Given the description of an element on the screen output the (x, y) to click on. 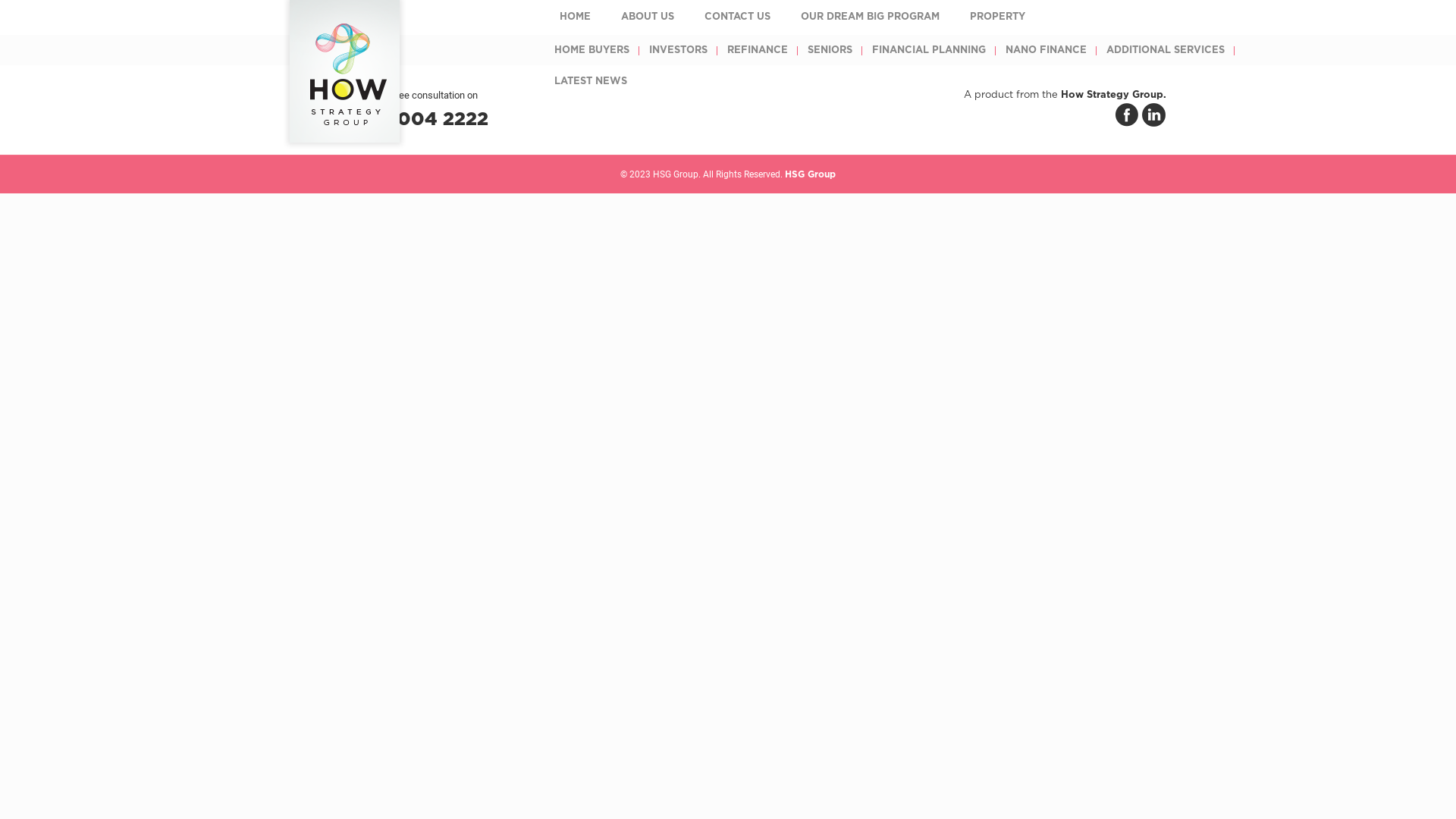
HOME Element type: text (574, 17)
SENIORS Element type: text (829, 49)
ABOUT US Element type: text (647, 17)
REFINANCE Element type: text (757, 49)
HSG Group Element type: hover (344, 71)
CONTACT US Element type: text (737, 17)
LATEST NEWS Element type: text (590, 81)
INVESTORS Element type: text (678, 49)
OUR DREAM BIG PROGRAM Element type: text (869, 17)
FINANCIAL PLANNING Element type: text (928, 49)
ADDITIONAL SERVICES Element type: text (1165, 49)
PROPERTY Element type: text (997, 17)
(02) 8004 2222 Element type: text (413, 118)
HOME BUYERS Element type: text (591, 49)
HSG Group Element type: text (809, 173)
NANO FINANCE Element type: text (1045, 49)
